Given the description of an element on the screen output the (x, y) to click on. 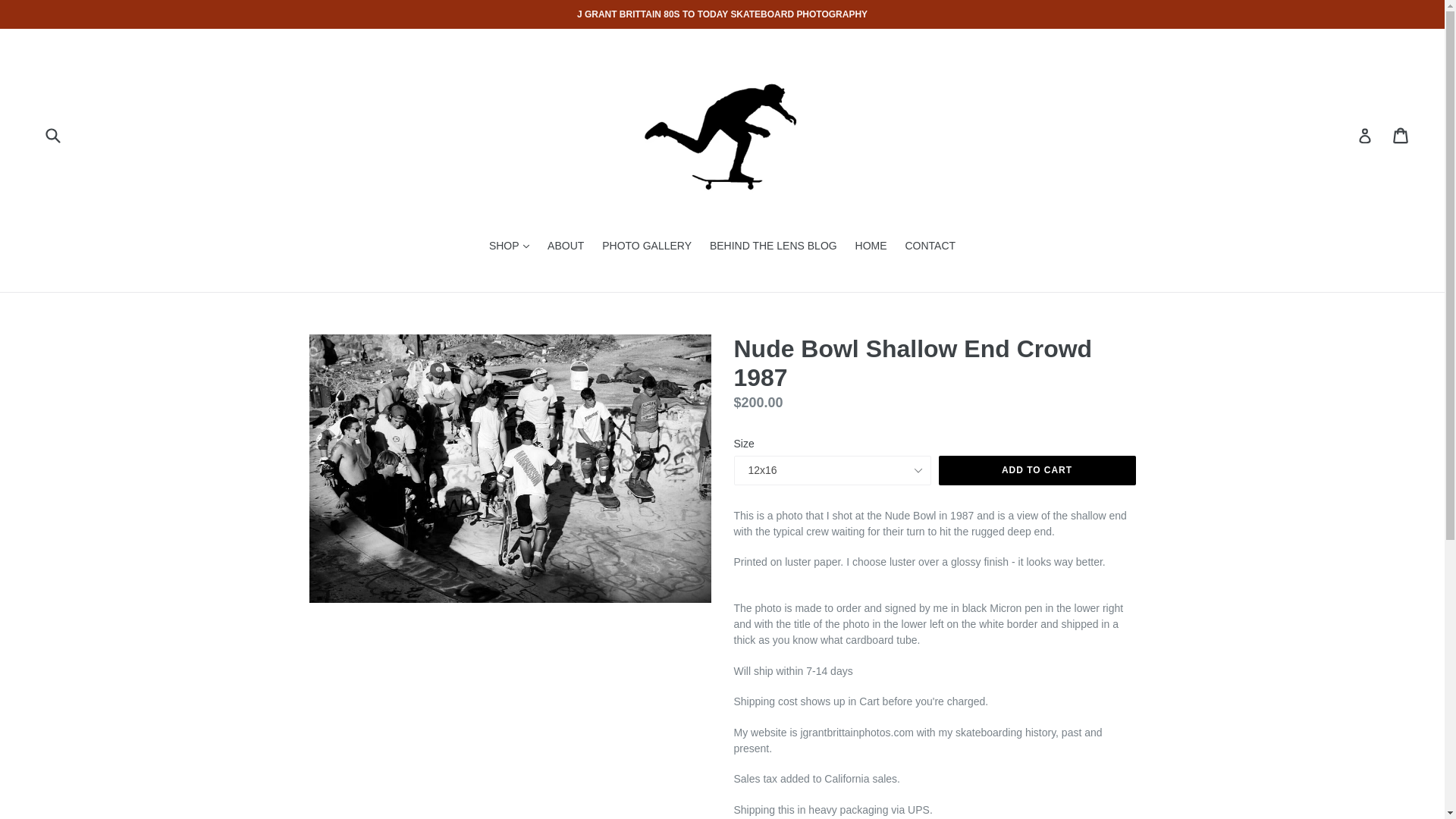
CONTACT (929, 247)
HOME (871, 247)
PHOTO GALLERY (646, 247)
ABOUT (565, 247)
ADD TO CART (1037, 470)
BEHIND THE LENS BLOG (772, 247)
